Given the description of an element on the screen output the (x, y) to click on. 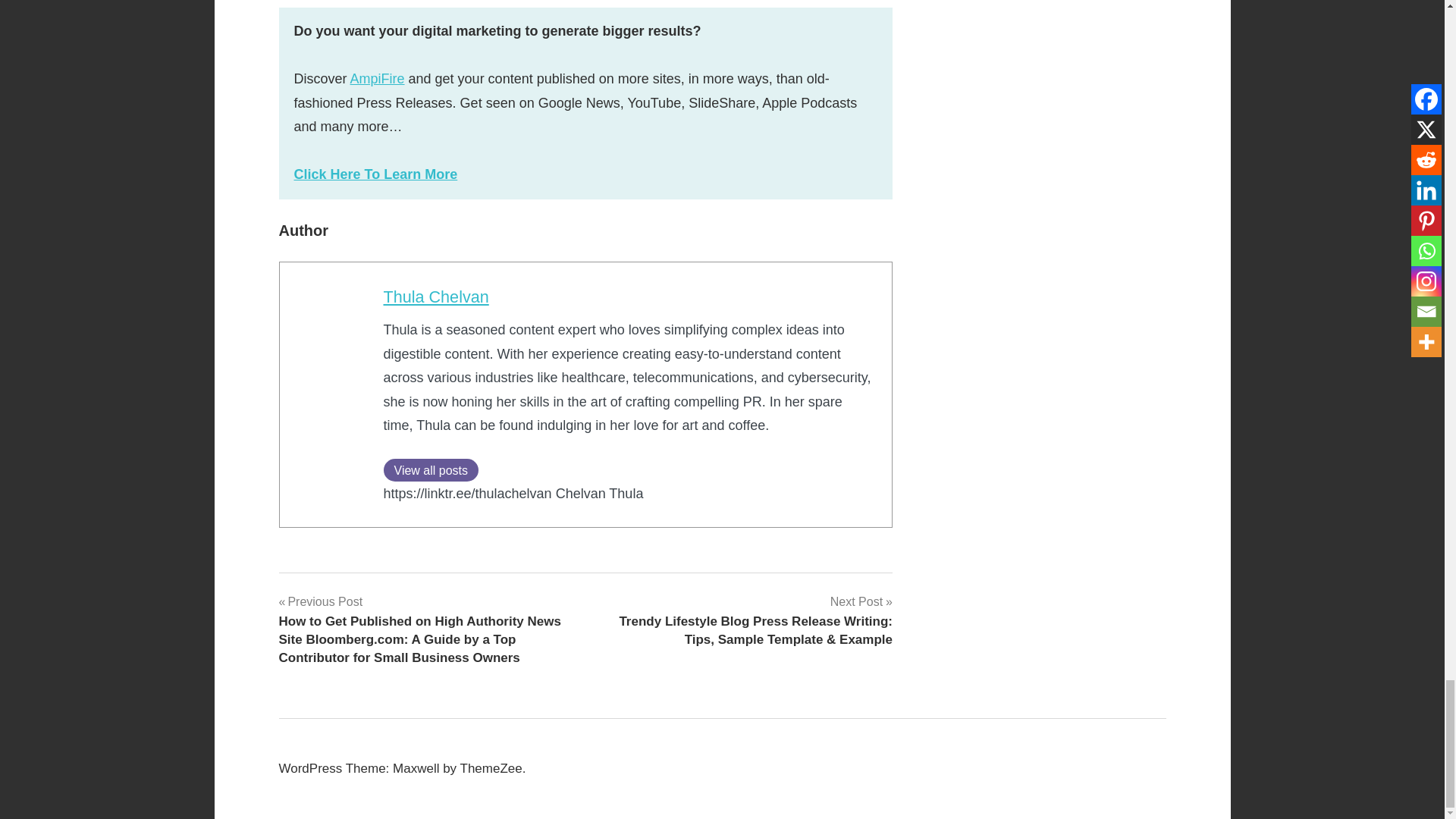
AmpiFire (377, 78)
Thula Chelvan (436, 296)
View all posts (431, 469)
Thula Chelvan (436, 296)
Click Here To Learn More (376, 174)
View all posts (431, 469)
